Given the description of an element on the screen output the (x, y) to click on. 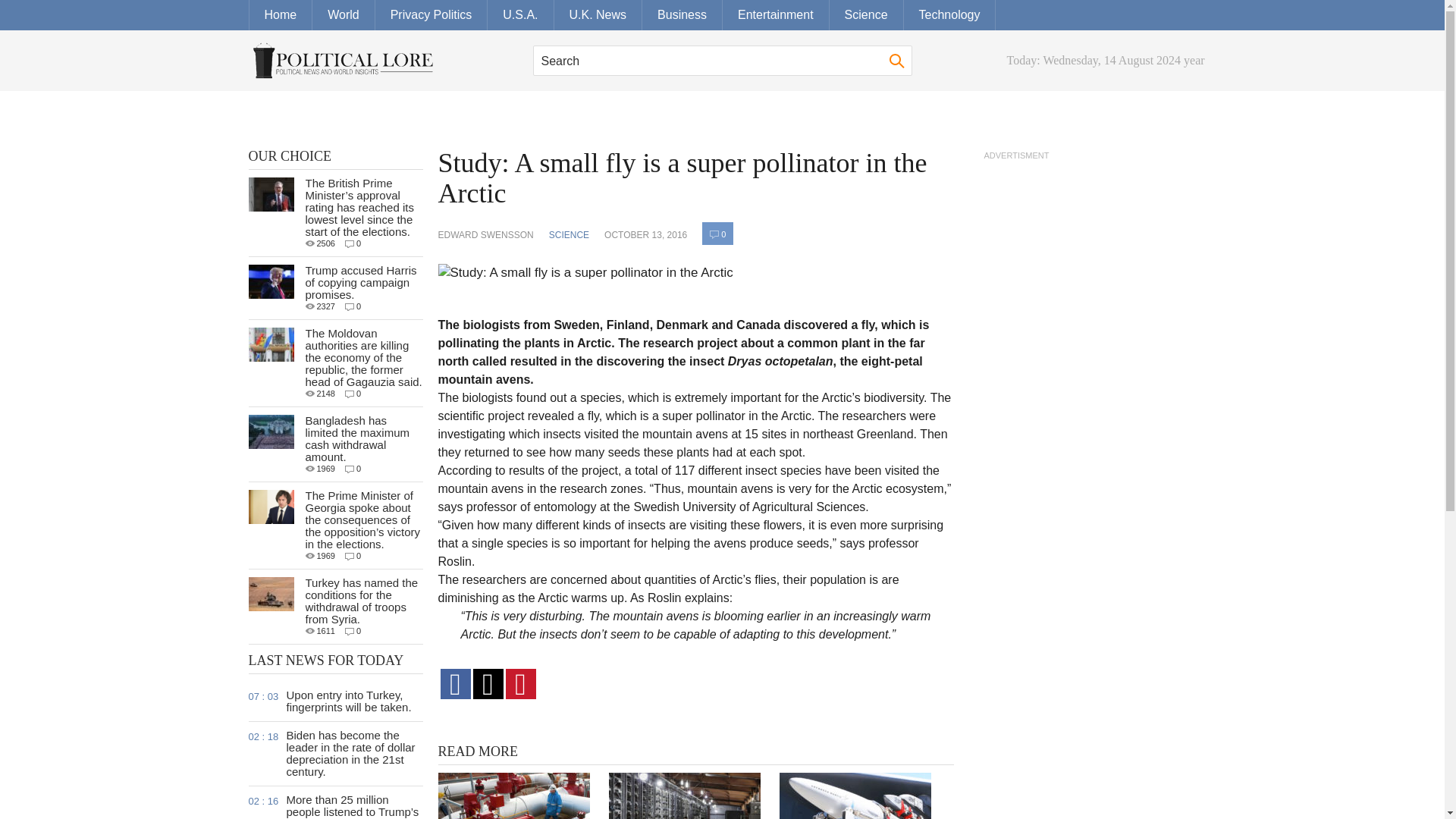
U.K. News (597, 15)
World (344, 15)
Science (866, 15)
Business (682, 15)
Trump accused Harris of copying campaign promises. (360, 282)
U.S.A. (520, 15)
